Given the description of an element on the screen output the (x, y) to click on. 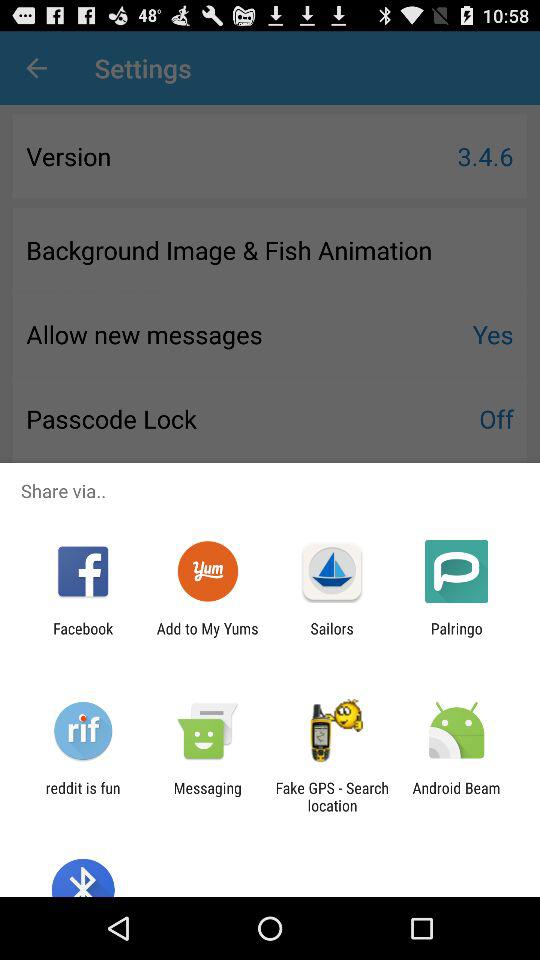
flip to add to my icon (207, 637)
